Given the description of an element on the screen output the (x, y) to click on. 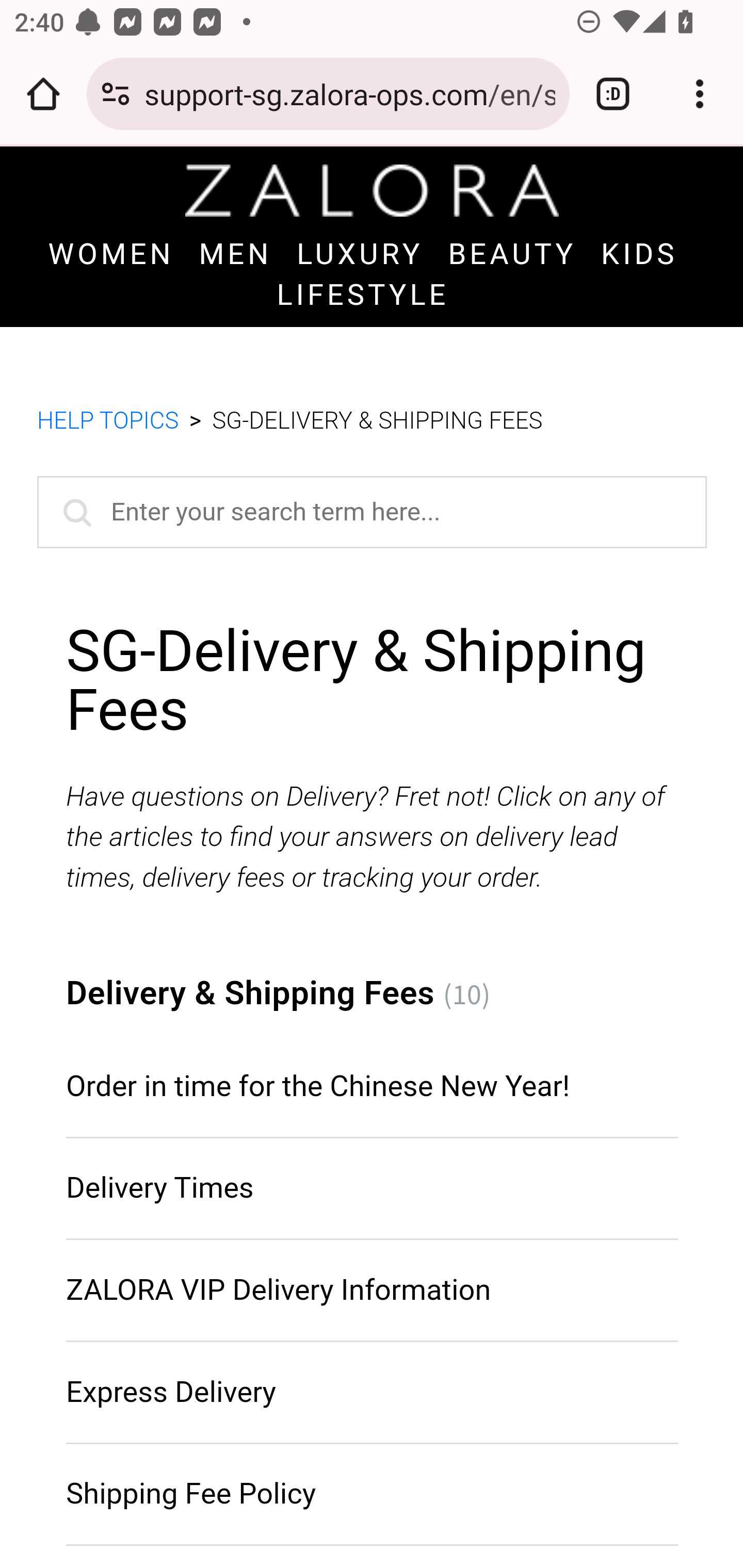
Open the home page (43, 93)
Connection is secure (115, 93)
Switch or close tabs (612, 93)
Customize and control Google Chrome (699, 93)
logo (371, 189)
WOMEN (110, 254)
MEN (235, 254)
LUXURY (360, 254)
BEAUTY (513, 254)
KIDS (639, 254)
LIFESTYLE (362, 293)
HELP TOPICS (108, 421)
Search (72, 511)
Order in time for the Chinese New Year! (317, 1087)
Delivery Times (159, 1187)
ZALORA VIP Delivery Information (278, 1289)
Express Delivery (171, 1391)
Shipping Fee Policy (191, 1495)
